Given the description of an element on the screen output the (x, y) to click on. 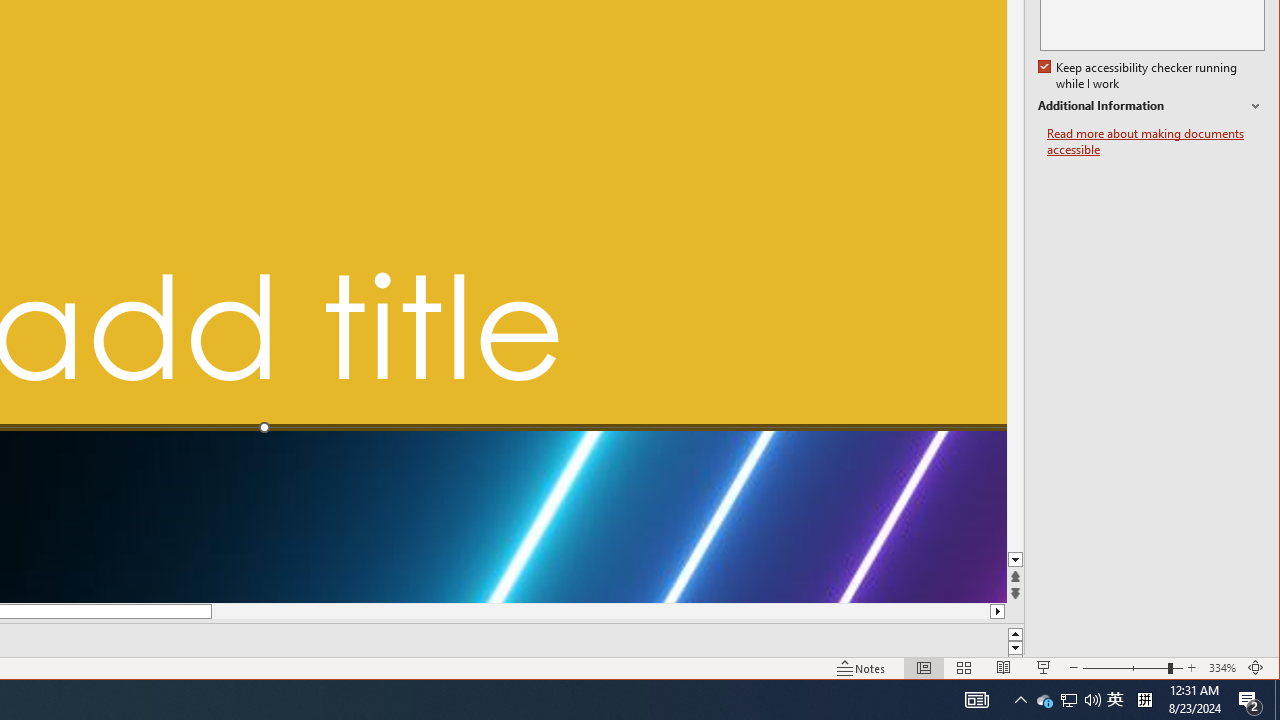
Additional Information (1151, 106)
Slide Sorter (964, 668)
Zoom 334% (1222, 668)
Zoom to Fit  (1256, 668)
Q2790: 100% (1092, 699)
Zoom Out (1124, 668)
Keep accessibility checker running while I work (1139, 76)
Normal (923, 668)
Page down (1015, 342)
